Given the description of an element on the screen output the (x, y) to click on. 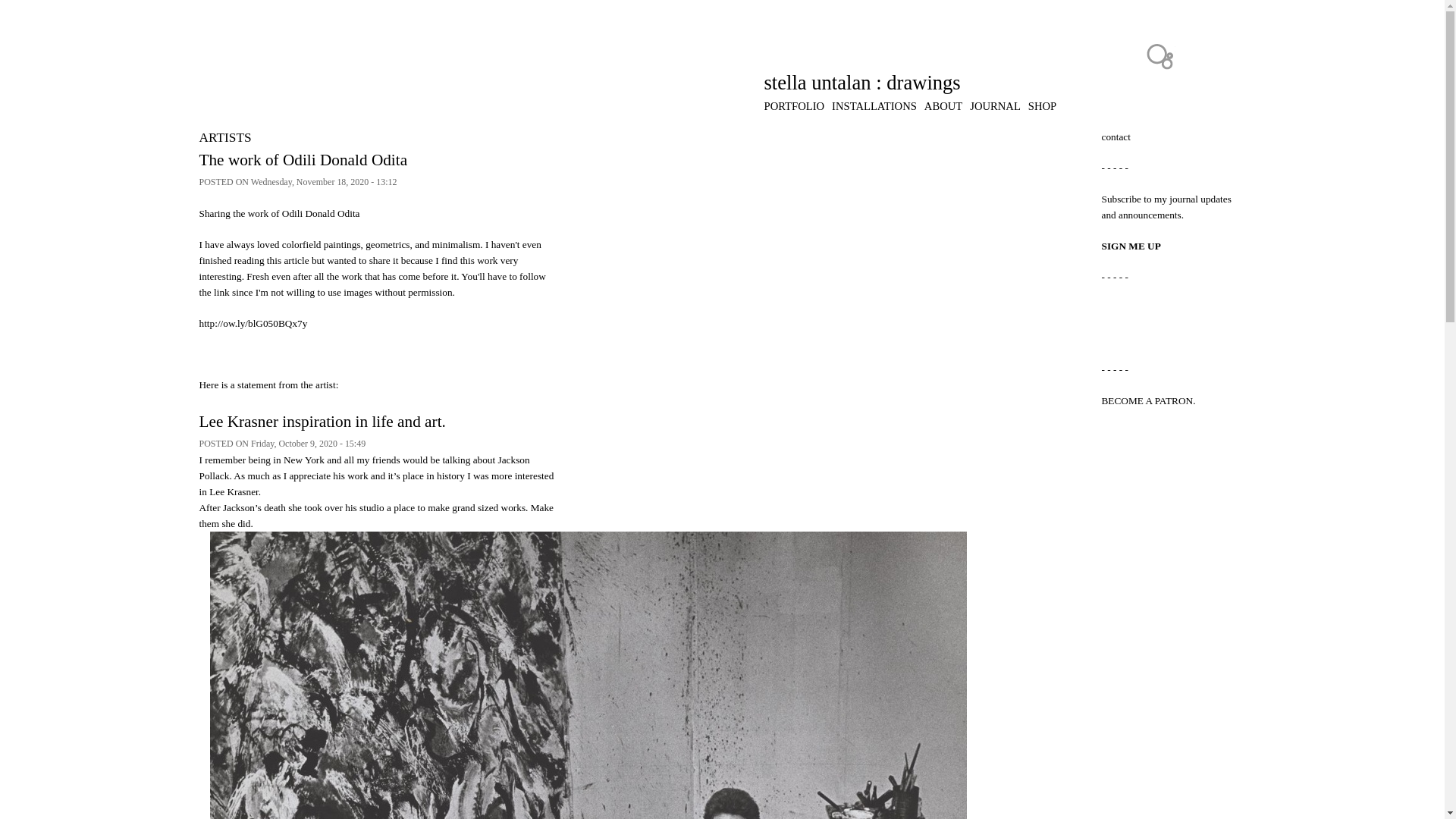
ABOUT (943, 105)
SHOP (1042, 105)
BECOME A PATRON. (1147, 400)
contact (1114, 136)
INSTALLATIONS (874, 105)
PORTFOLIO (794, 105)
My square online store (1042, 105)
stella untalan : drawings (862, 82)
The work of Odili Donald Odita (302, 159)
SIGN ME UP (1130, 245)
Heavy Bubble (1159, 55)
Heavy Bubble Portfolio websites for artists (1159, 55)
Click to my form (1130, 245)
Lee Krasner inspiration in life and art. (321, 421)
